Given the description of an element on the screen output the (x, y) to click on. 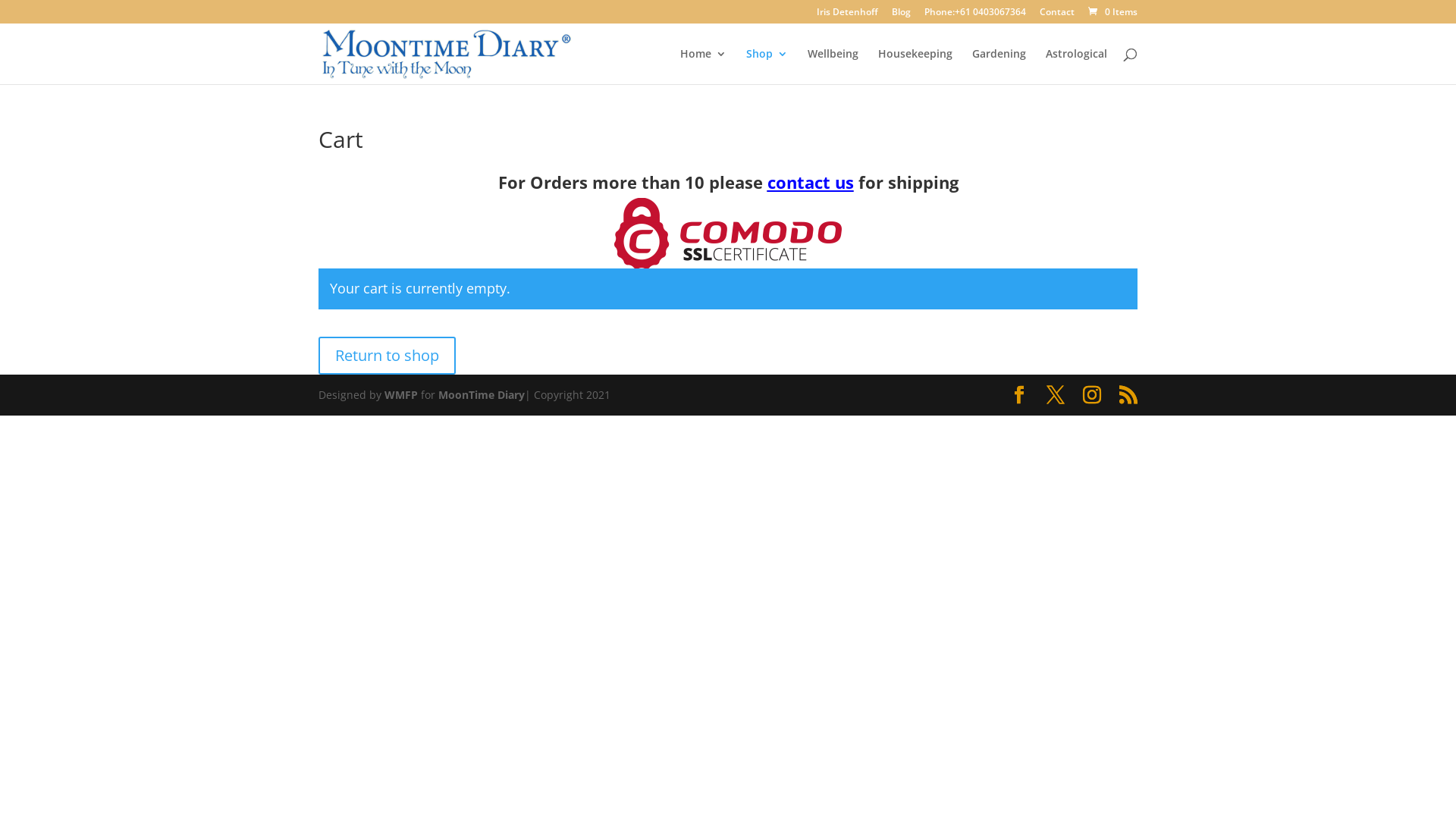
Phone:+61 0403067364 Element type: text (975, 15)
WMFP Element type: text (400, 394)
Gardening Element type: text (999, 66)
Iris Detenhoff Element type: text (847, 15)
Housekeeping Element type: text (915, 66)
Wellbeing Element type: text (832, 66)
Shop Element type: text (766, 66)
0 Items Element type: text (1111, 11)
Blog Element type: text (900, 15)
Astrological Element type: text (1076, 66)
contact us Element type: text (810, 181)
Return to shop Element type: text (386, 355)
Home Element type: text (703, 66)
Contact Element type: text (1056, 15)
